Given the description of an element on the screen output the (x, y) to click on. 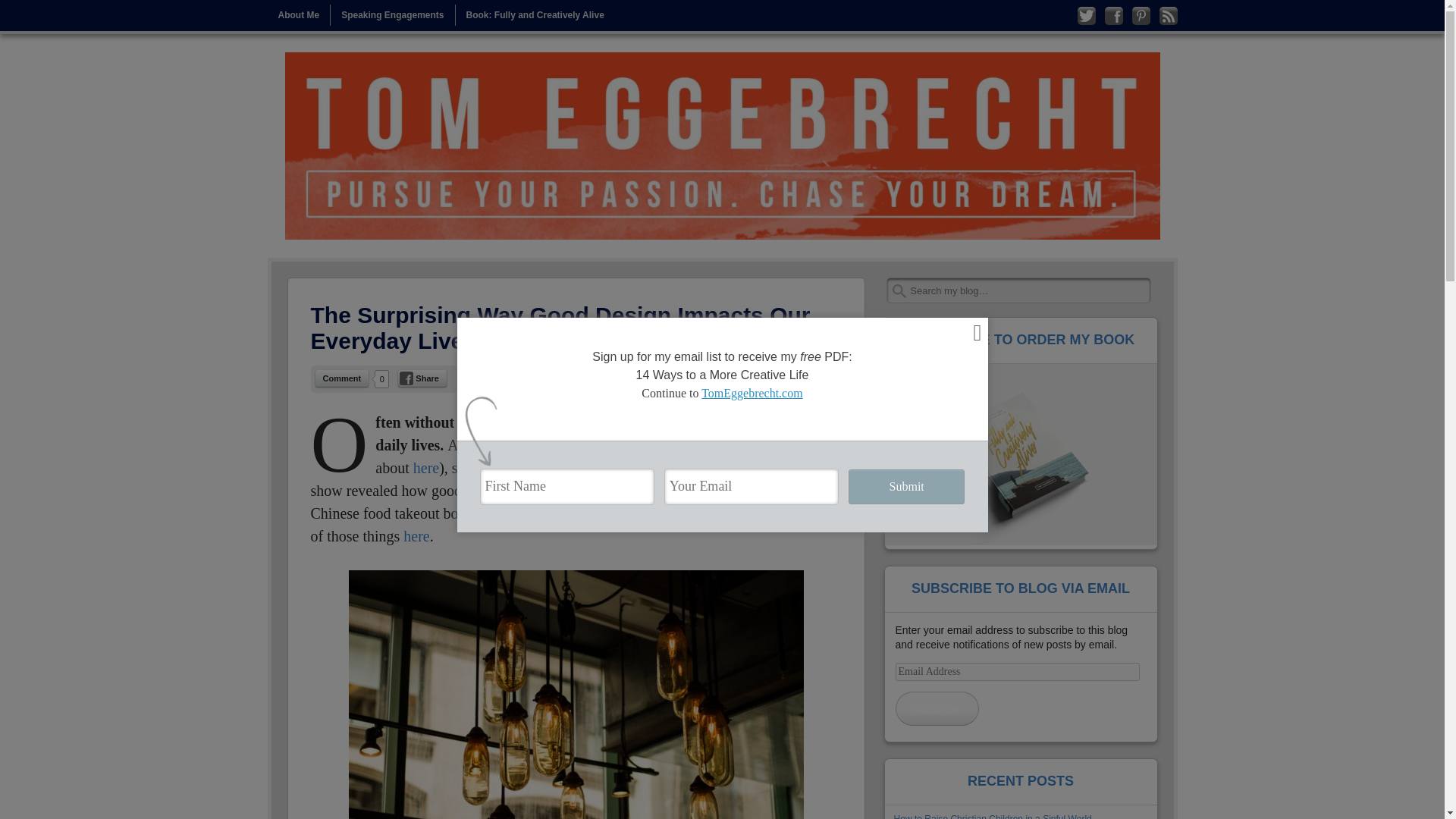
Tweet (495, 378)
here (416, 535)
Comment (342, 378)
Pin It (566, 378)
Comment on this Post (342, 378)
Share (421, 378)
print (822, 379)
Tweet this Post (495, 378)
Follow me on Pinterest (1140, 15)
Speaking Engagements (392, 14)
About Me (298, 14)
Buffer (638, 378)
Skip to content (299, 14)
Book: Fully and Creatively Alive (534, 14)
